Given the description of an element on the screen output the (x, y) to click on. 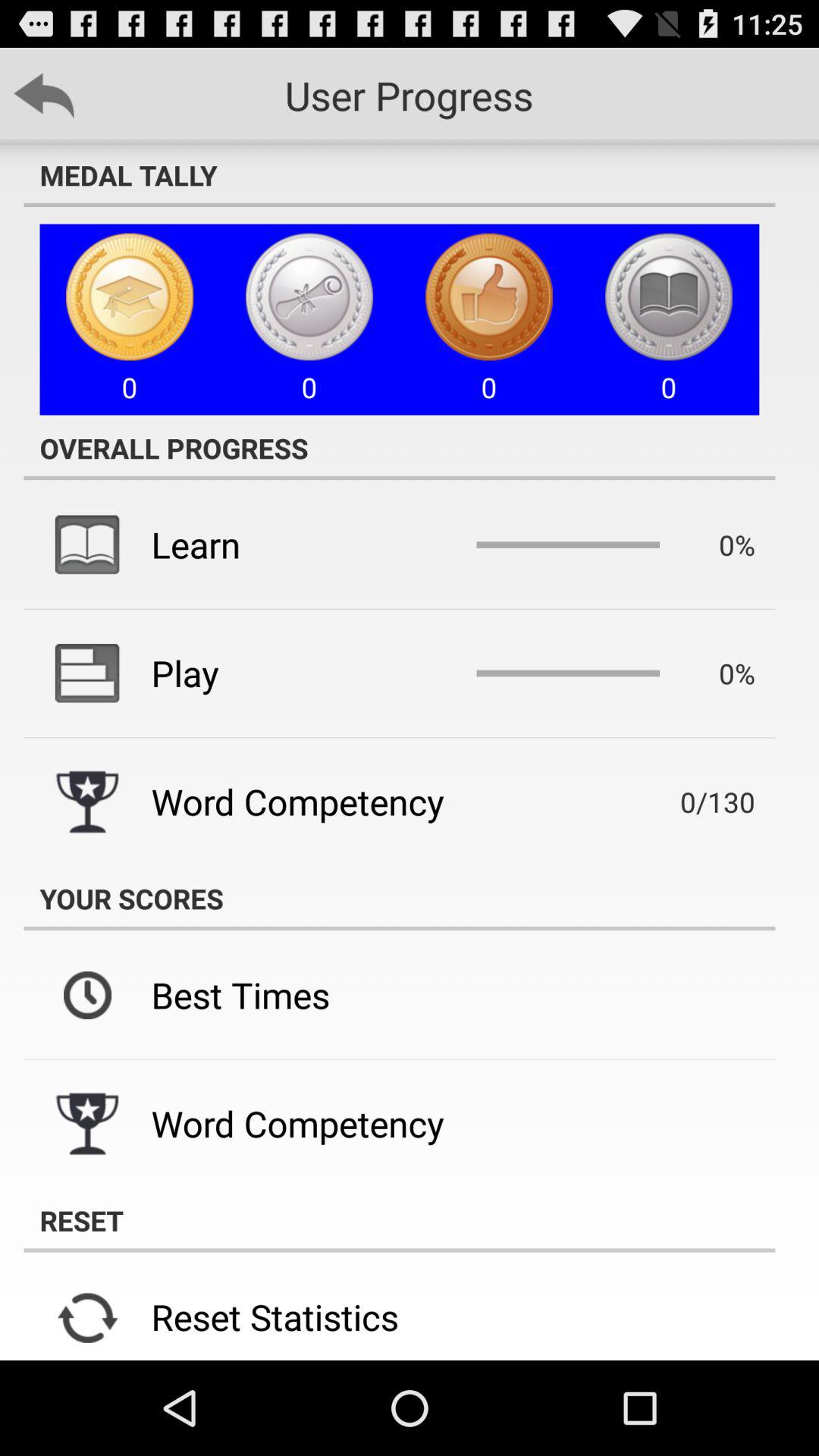
open 0/130 (695, 801)
